Given the description of an element on the screen output the (x, y) to click on. 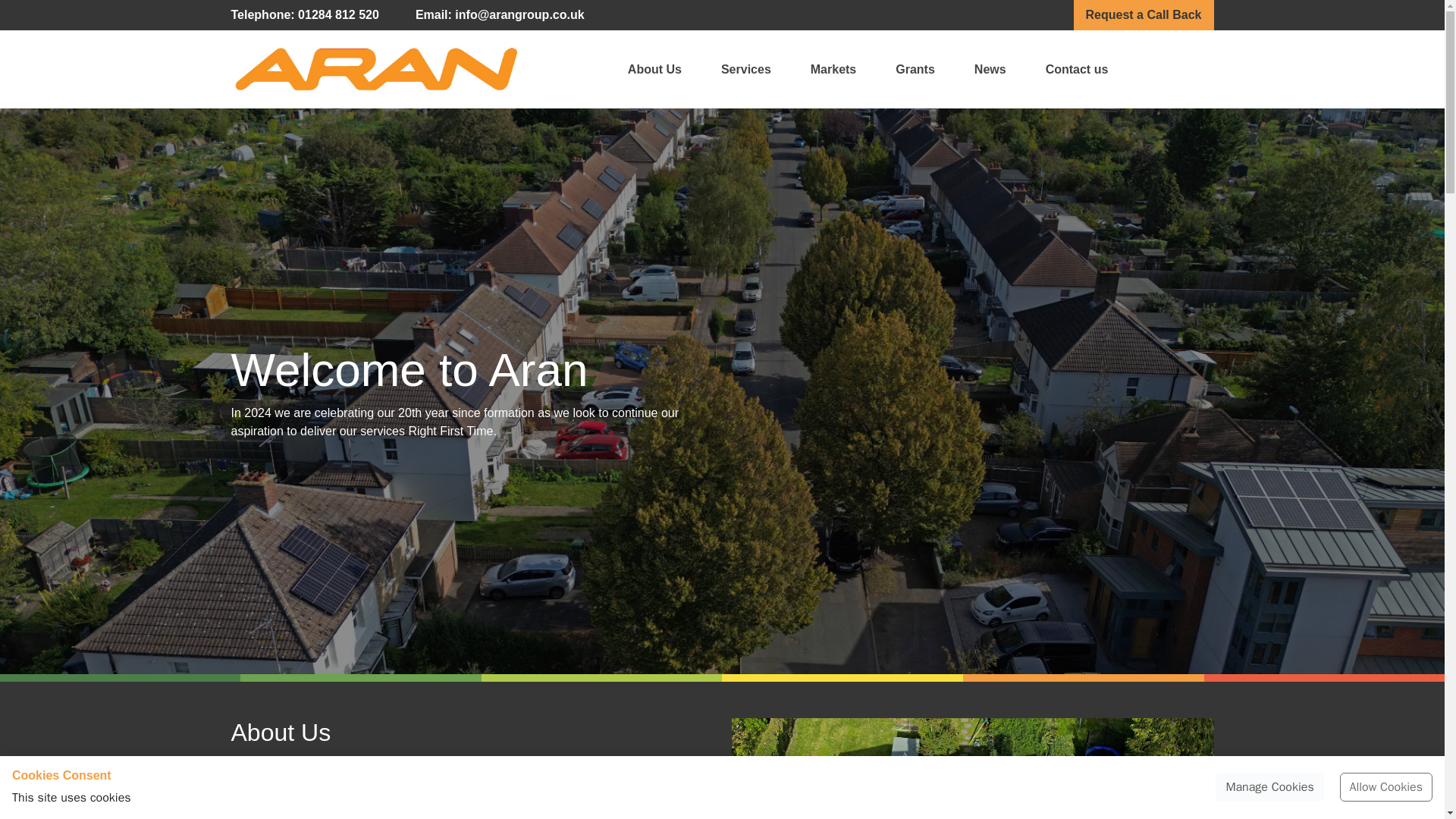
Request a Call Back (1144, 15)
Telephone: 01284 812 520 (304, 14)
Contact us (1077, 69)
